Given the description of an element on the screen output the (x, y) to click on. 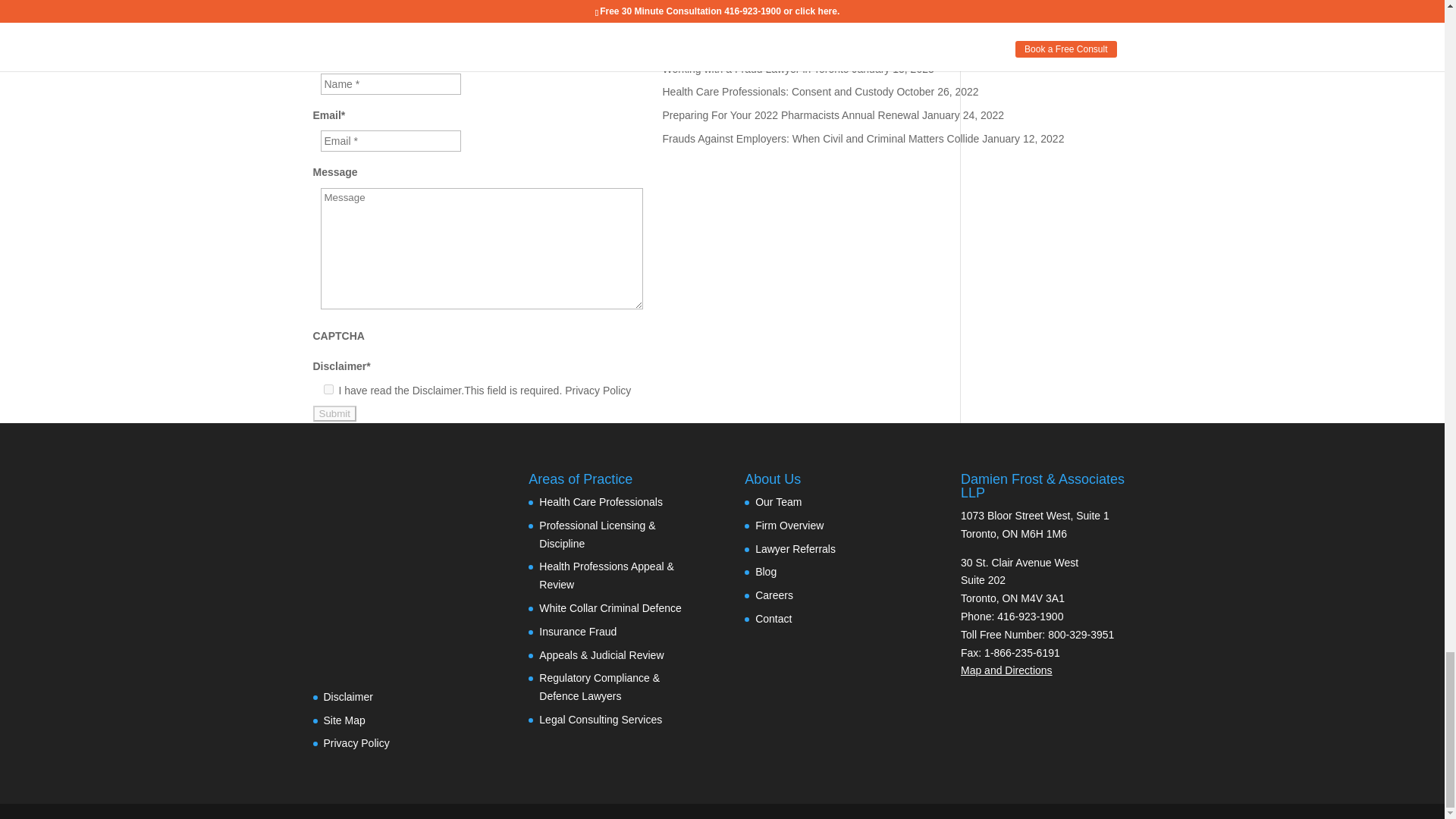
Submit (334, 413)
